Given the description of an element on the screen output the (x, y) to click on. 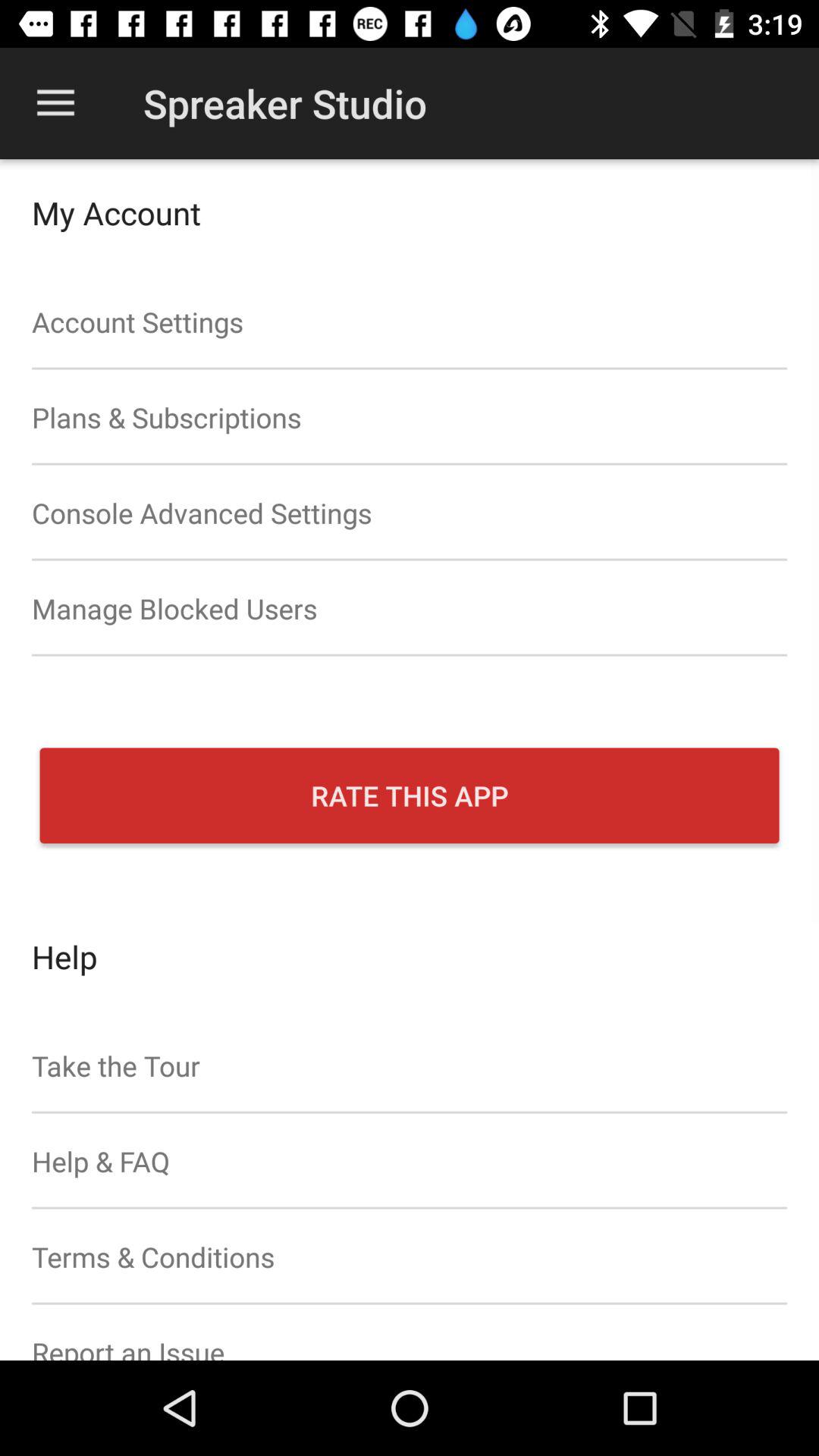
choose icon below account settings (409, 417)
